Given the description of an element on the screen output the (x, y) to click on. 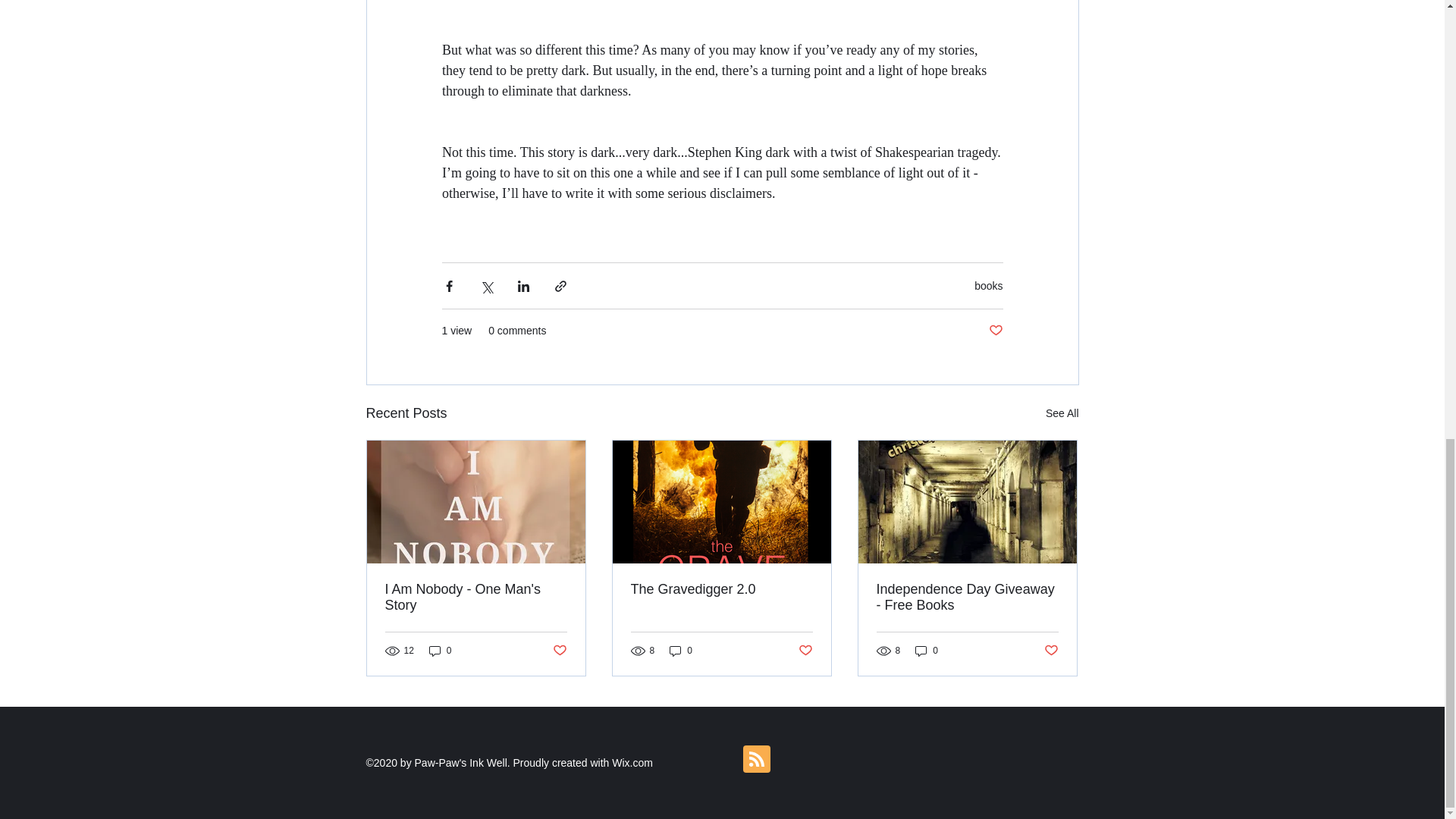
I Am Nobody - One Man's Story (476, 597)
0 (681, 650)
See All (1061, 413)
Post not marked as liked (804, 650)
Post not marked as liked (558, 650)
0 (926, 650)
0 (440, 650)
Independence Day Giveaway - Free Books (967, 597)
Post not marked as liked (995, 330)
The Gravedigger 2.0 (721, 589)
